Given the description of an element on the screen output the (x, y) to click on. 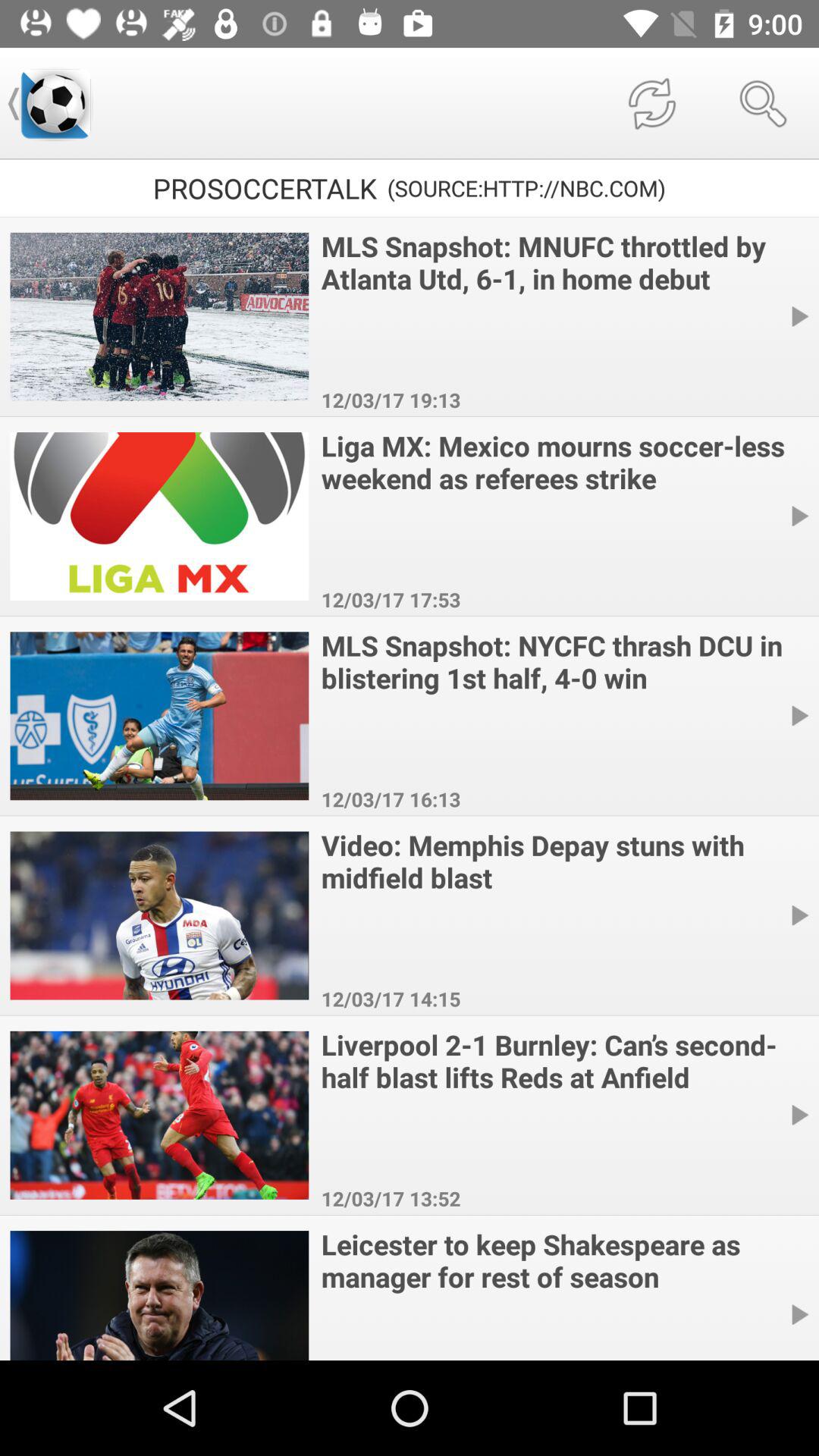
choose the item next to the prosoccertalk item (55, 103)
